Given the description of an element on the screen output the (x, y) to click on. 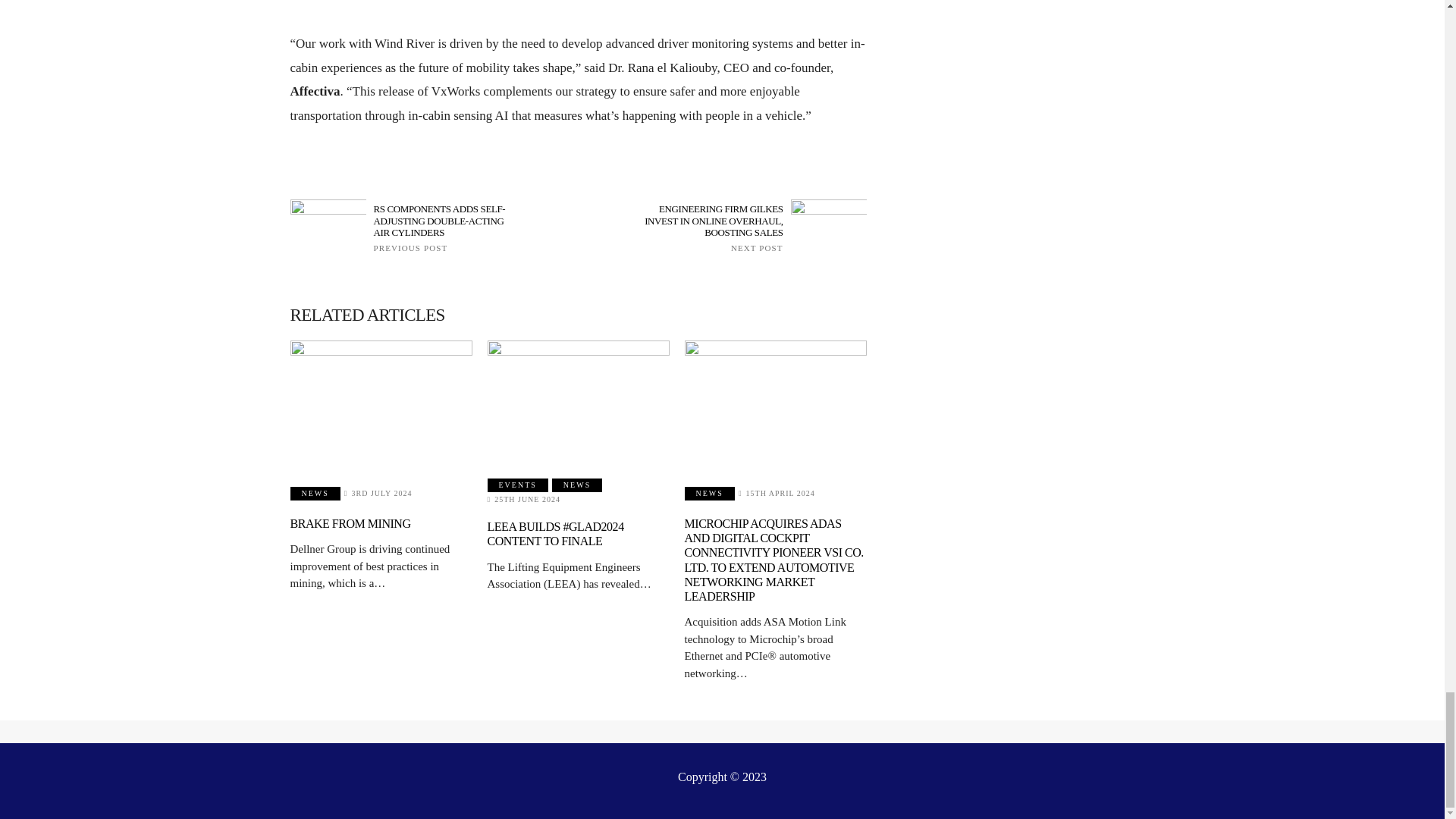
Brake from Mining (380, 403)
